Given the description of an element on the screen output the (x, y) to click on. 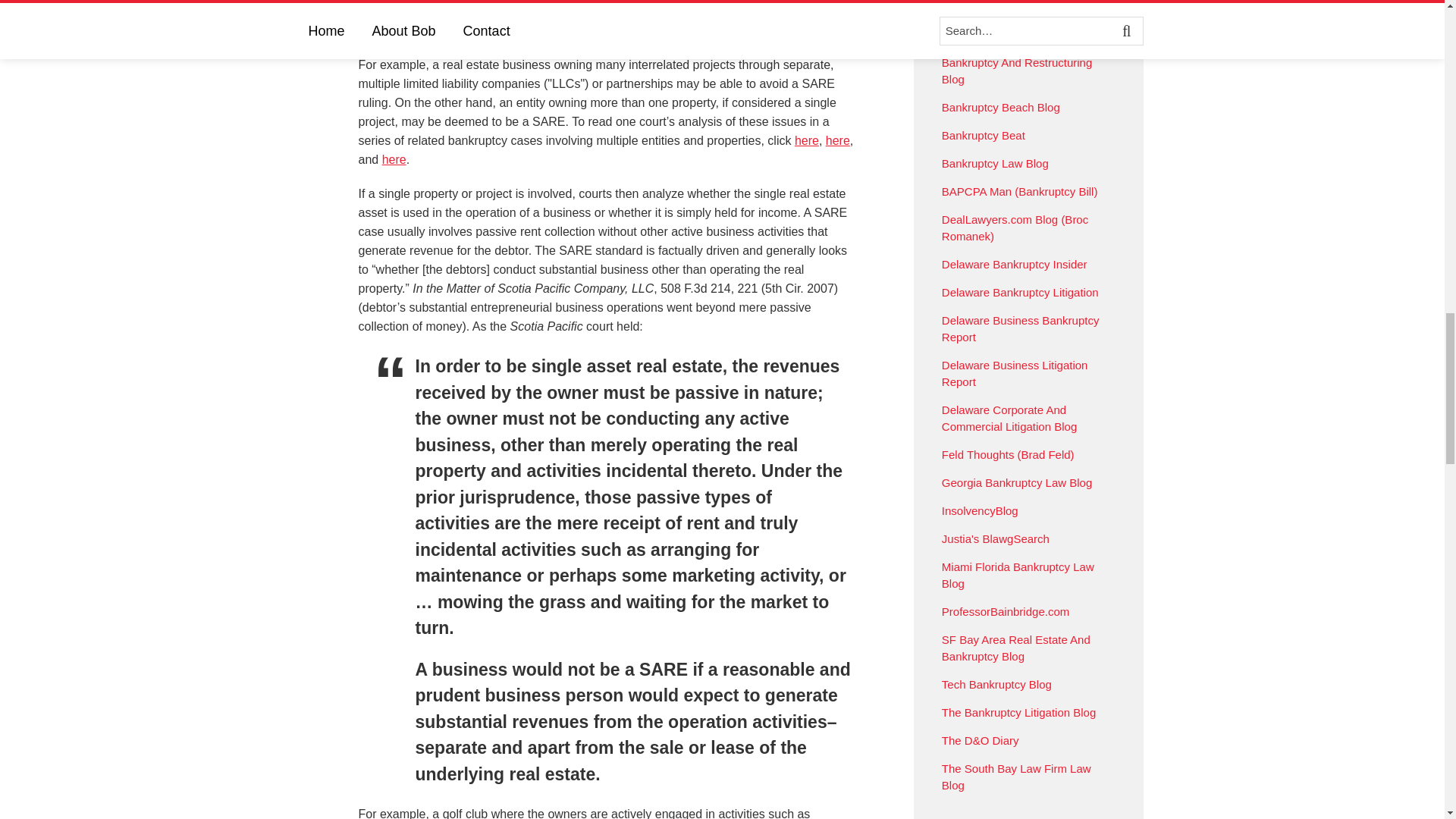
here (837, 140)
here (393, 159)
here (806, 140)
